Given the description of an element on the screen output the (x, y) to click on. 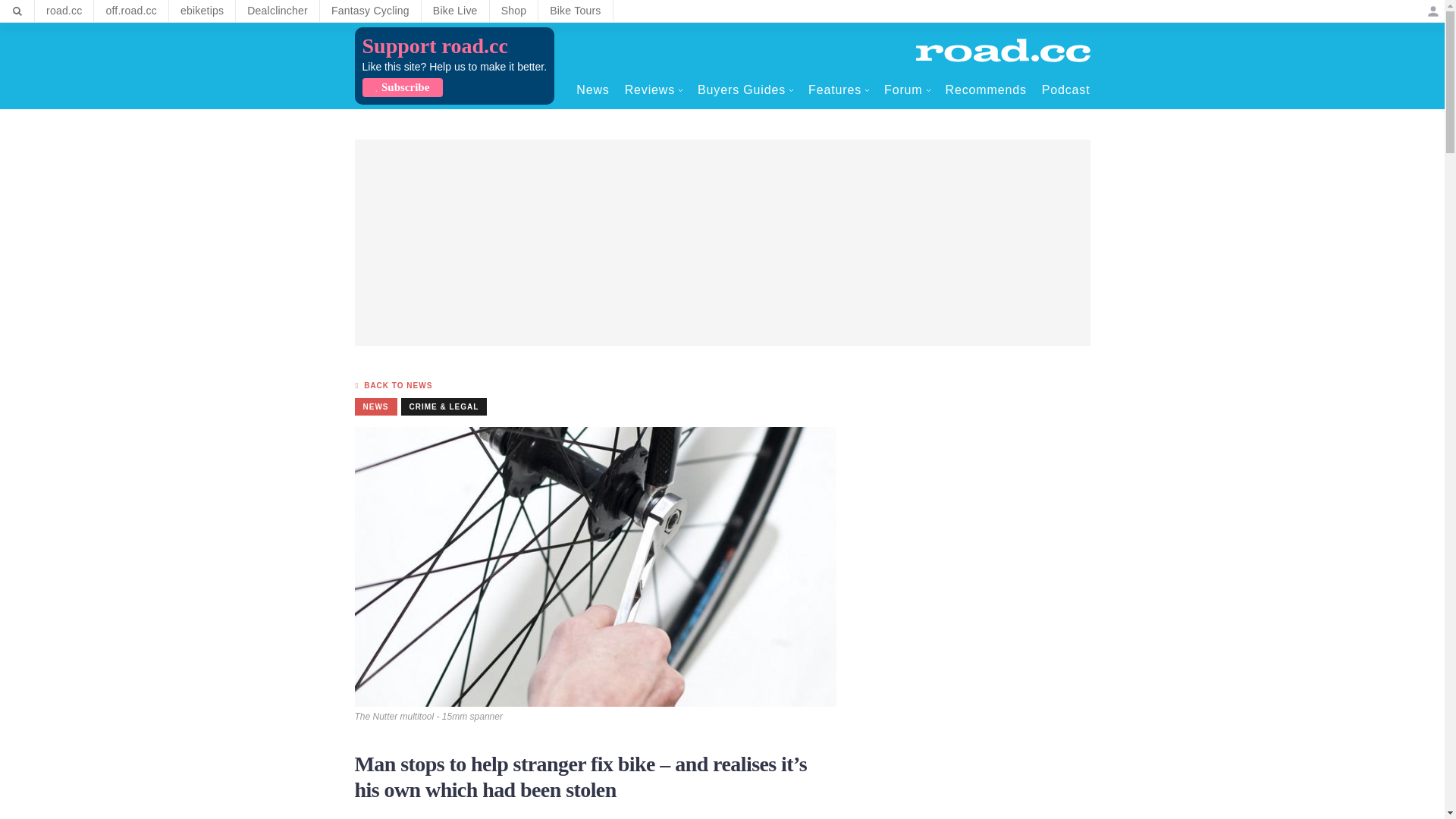
Bike Tours (574, 11)
Bike Live (455, 11)
Shop (513, 11)
ebiketips (201, 11)
off.road.cc (131, 11)
Fantasy Cycling (370, 11)
Reviews (653, 89)
Dealclincher (276, 11)
Home (1002, 50)
road.cc (63, 11)
